Given the description of an element on the screen output the (x, y) to click on. 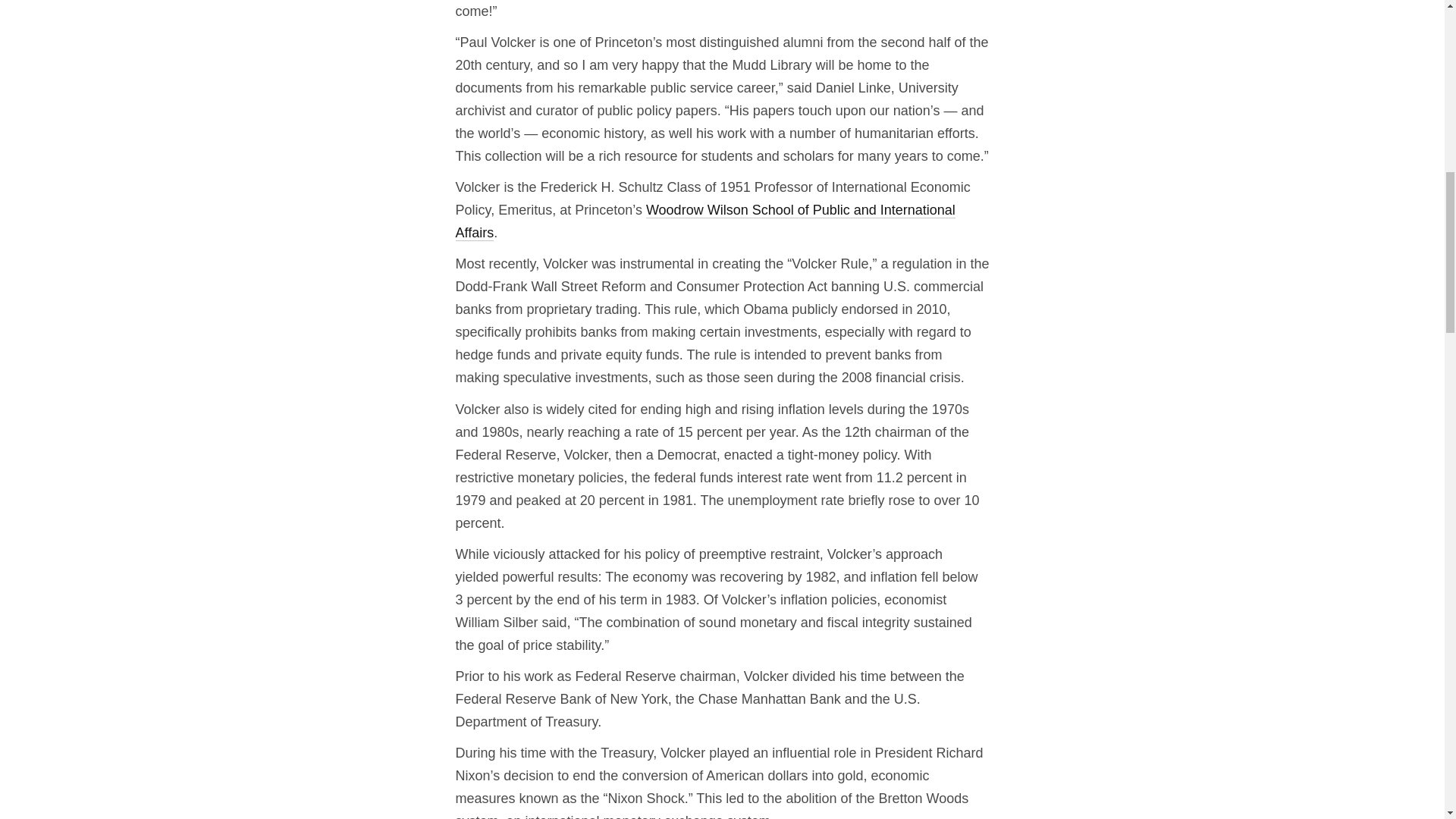
Woodrow Wilson School of Public and International Affairs (704, 221)
